Given the description of an element on the screen output the (x, y) to click on. 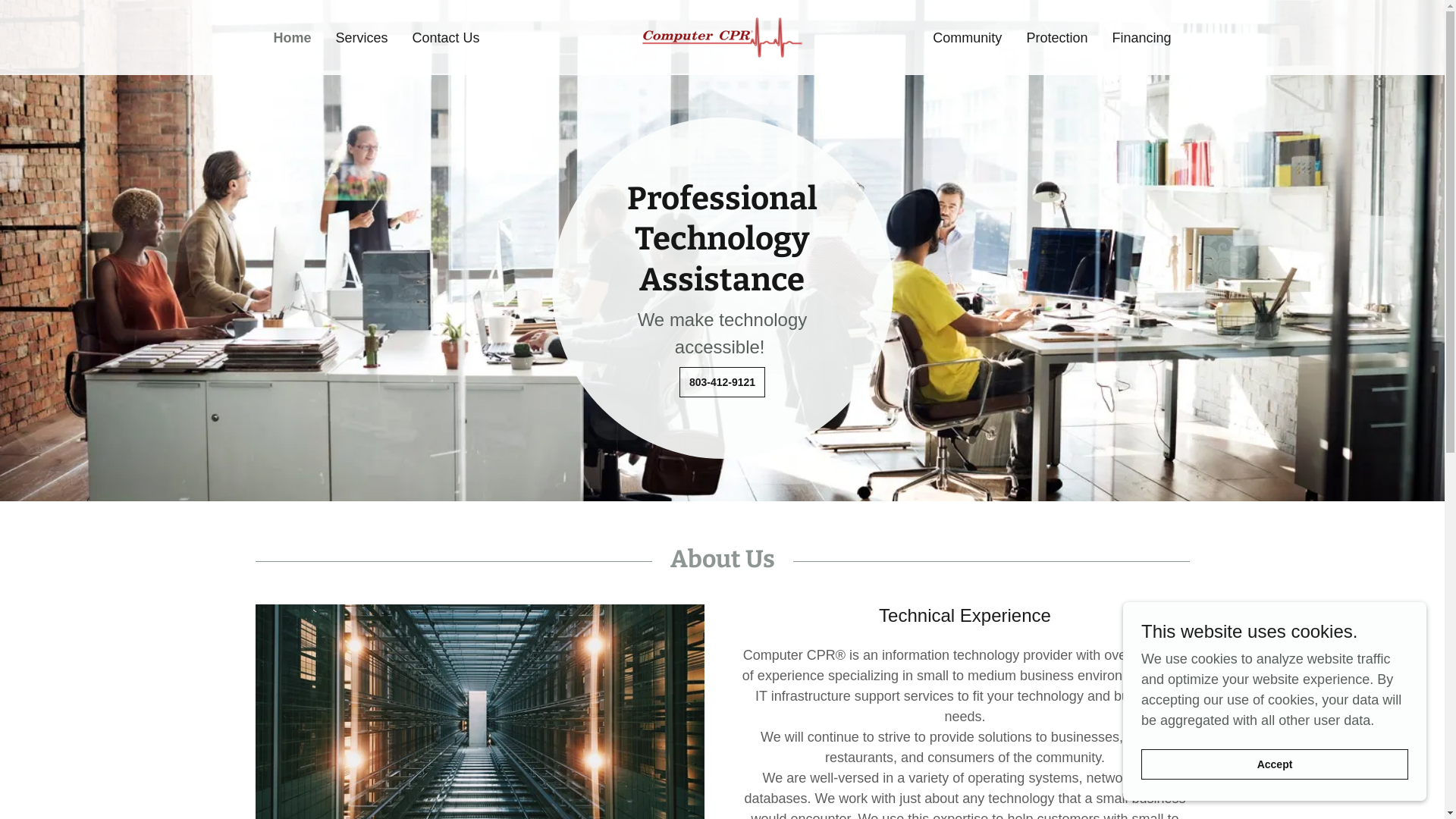
Computer CPR  Element type: hover (722, 35)
Accept Element type: text (1274, 764)
Home Element type: text (291, 37)
Community Element type: text (967, 37)
Contact Us Element type: text (445, 37)
Financing Element type: text (1141, 37)
Services Element type: text (361, 37)
Protection Element type: text (1056, 37)
803-412-9121 Element type: text (722, 382)
